Given the description of an element on the screen output the (x, y) to click on. 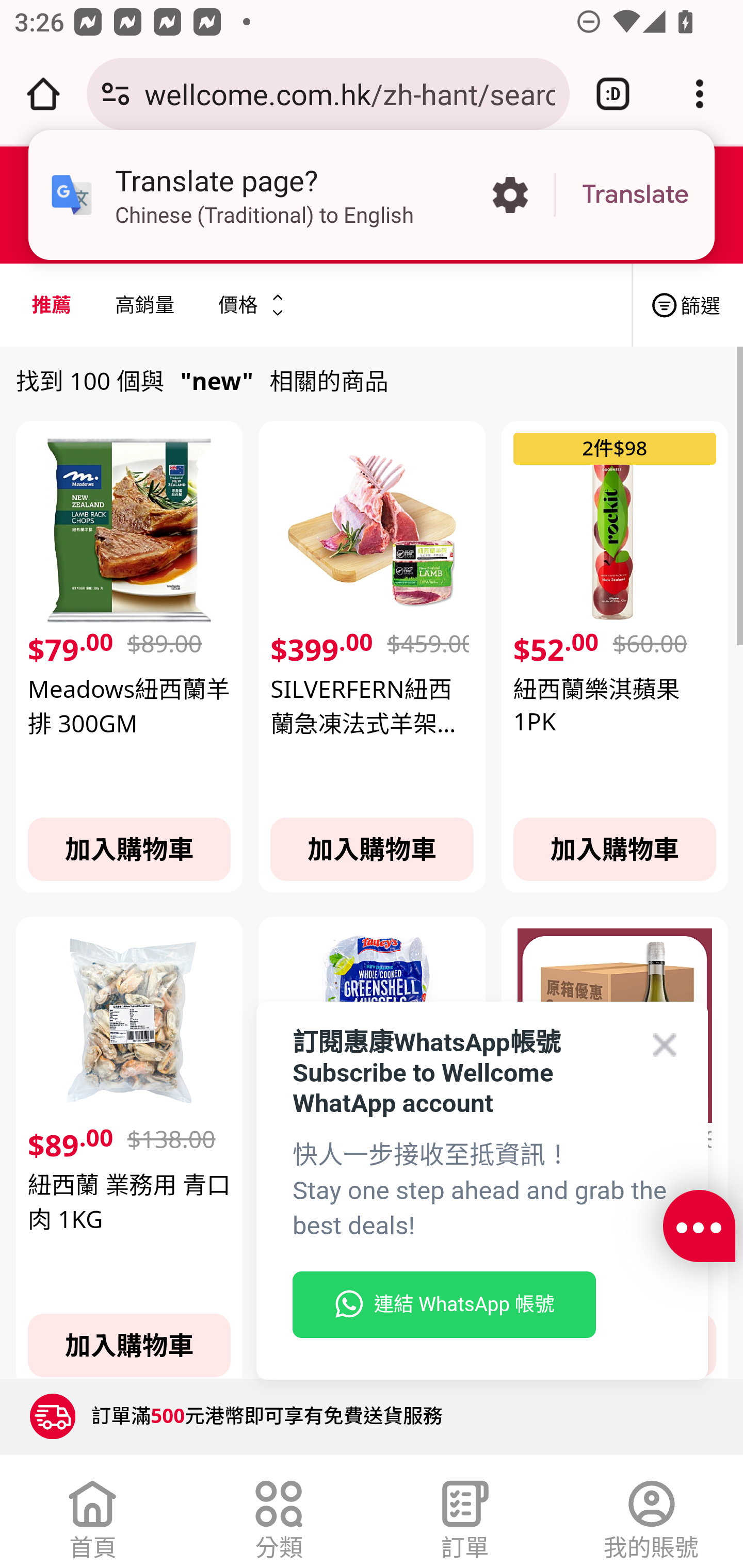
Open the home page (43, 93)
Connection is secure (115, 93)
Switch or close tabs (612, 93)
Customize and control Google Chrome (699, 93)
wellcome.com.hk/zh-hant/search?keyword=new (349, 92)
Translate (634, 195)
More options in the Translate page? (509, 195)
javascript:; (699, 1226)
連結 WhatsApp 帳號 (443, 1305)
首頁 (92, 1515)
分類 (278, 1515)
訂單 (464, 1515)
我的賬號 (650, 1515)
